Given the description of an element on the screen output the (x, y) to click on. 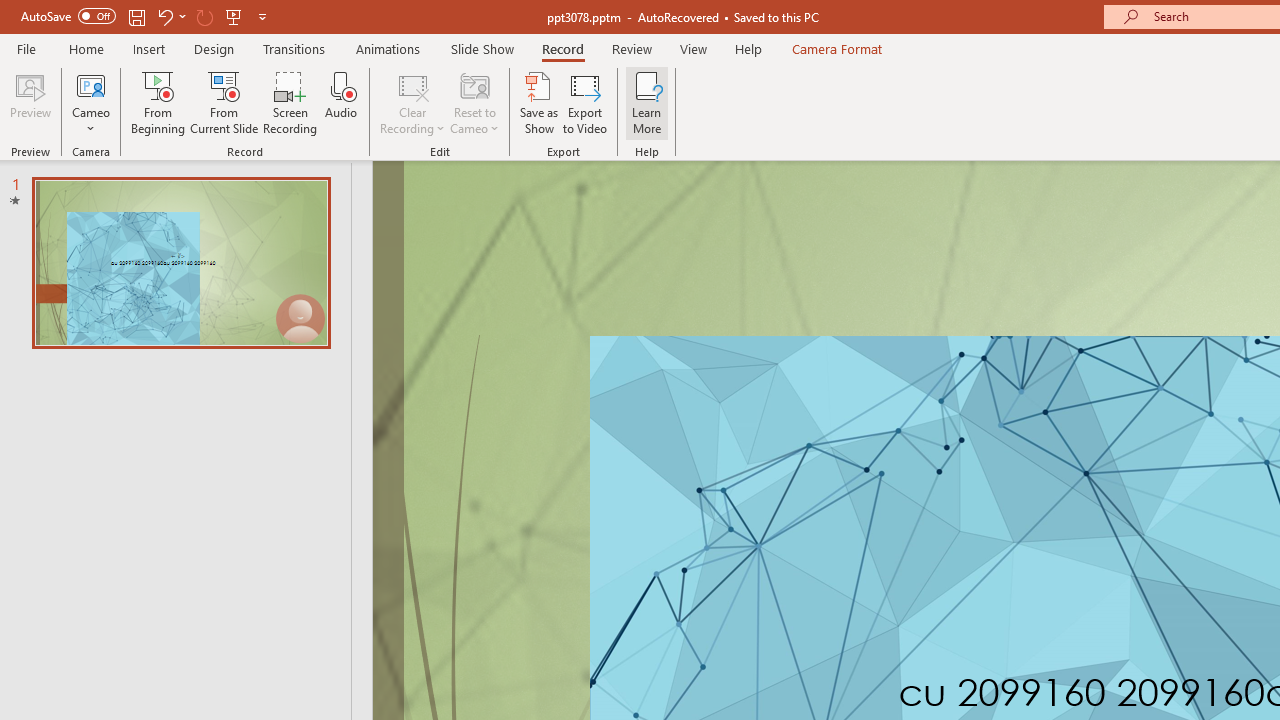
From Beginning... (158, 102)
